Given the description of an element on the screen output the (x, y) to click on. 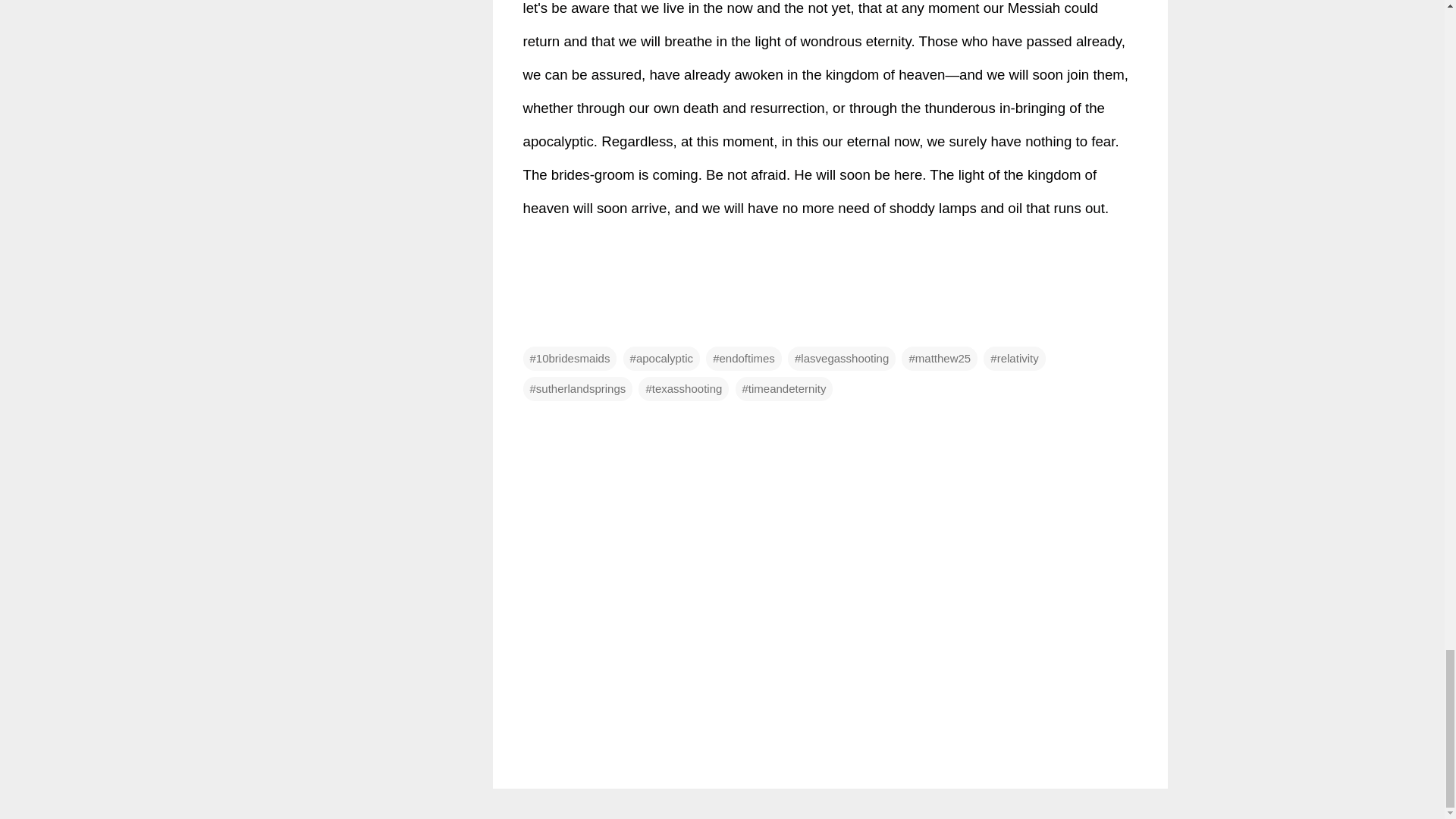
Email Post (531, 327)
